Given the description of an element on the screen output the (x, y) to click on. 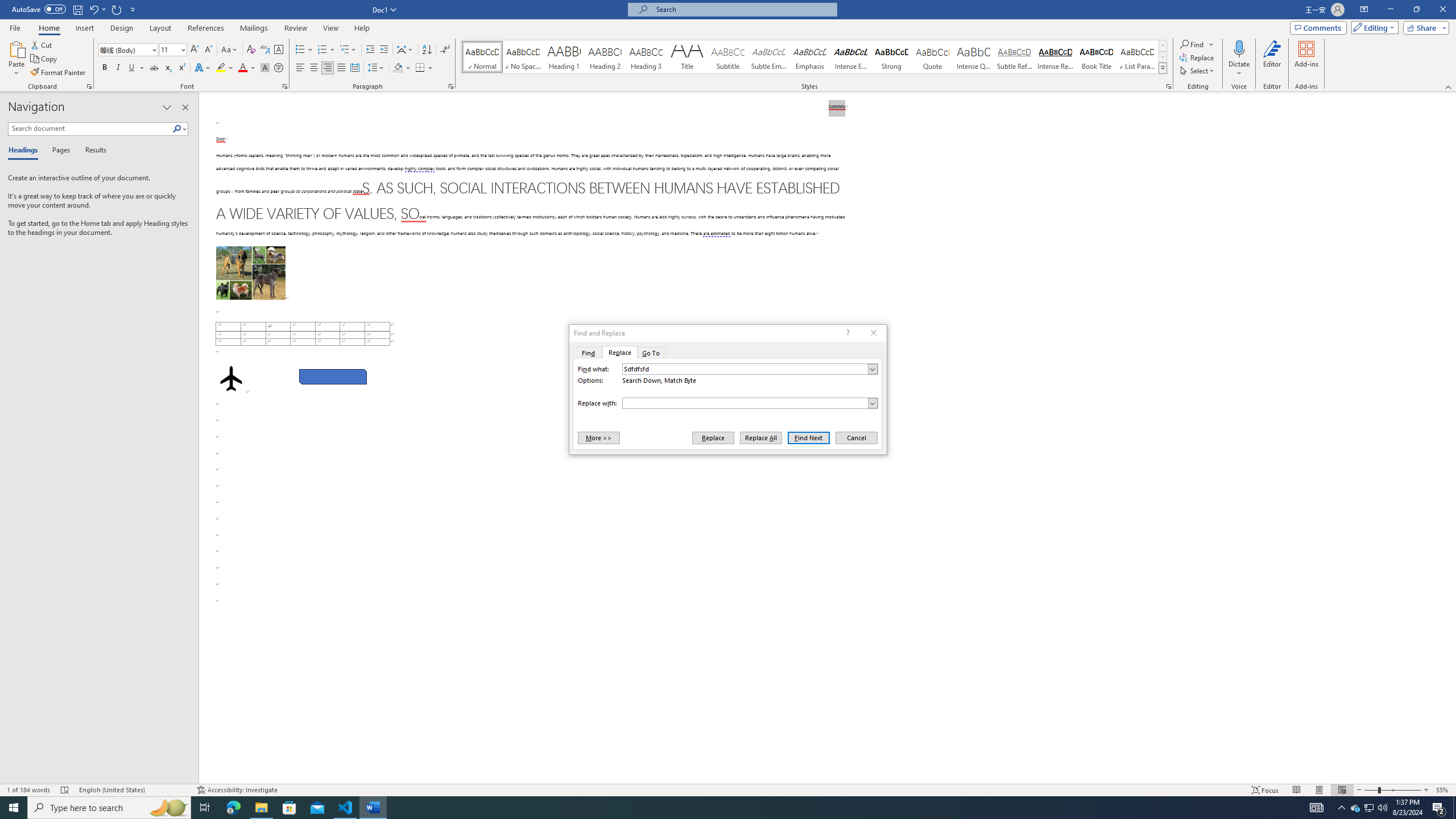
Shading RGB(0, 0, 0) (397, 67)
Zoom Out (1370, 790)
Italic (118, 67)
Font Size (172, 49)
Shrink Font (208, 49)
Multilevel List (347, 49)
Rectangle: Diagonal Corners Snipped 2 (332, 376)
Underline (136, 67)
Close (1442, 9)
Title (686, 56)
Review (295, 28)
File Tab (15, 27)
Zoom In (1426, 790)
Subtle Emphasis (768, 56)
Strong (891, 56)
